Given the description of an element on the screen output the (x, y) to click on. 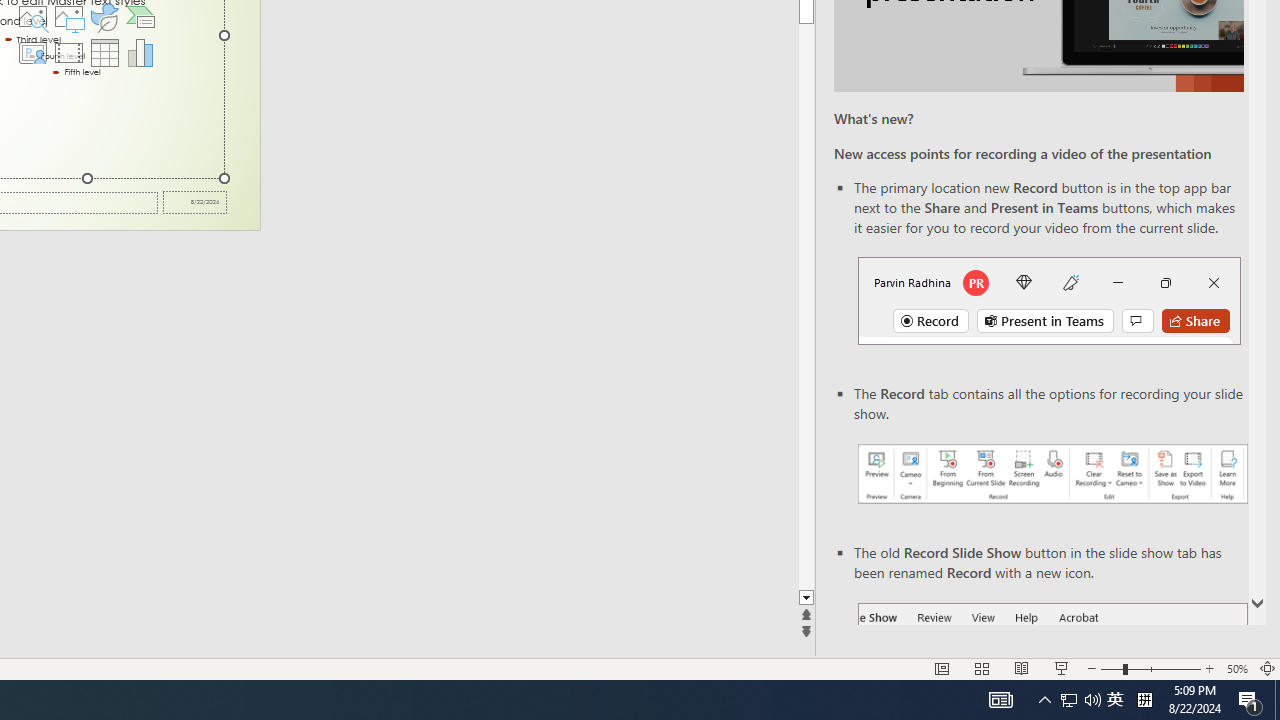
Insert a SmartArt Graphic (141, 16)
Insert Video (68, 52)
Insert Cameo (32, 52)
